Given the description of an element on the screen output the (x, y) to click on. 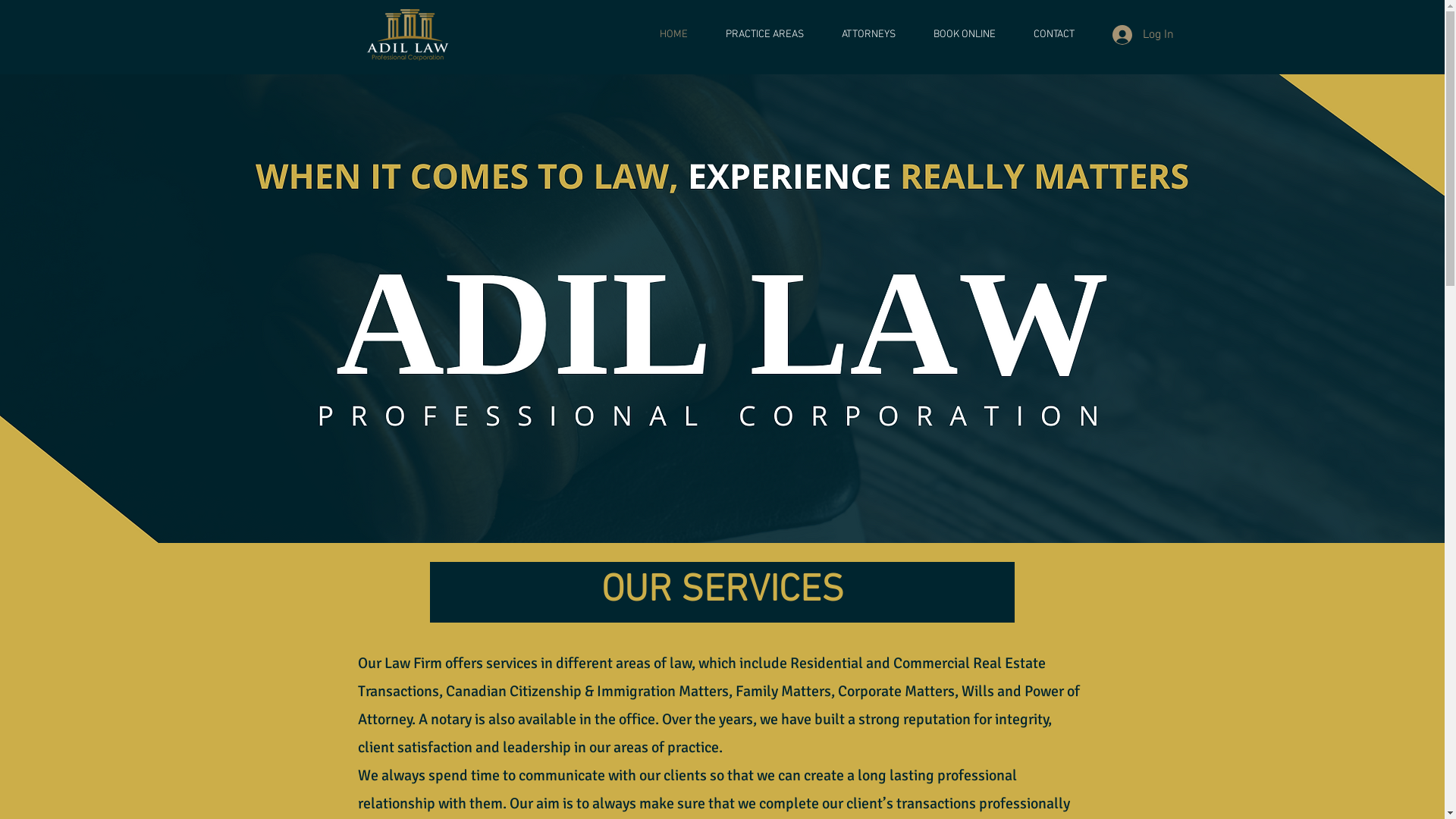
PRACTICE AREAS Element type: text (764, 34)
BOOK ONLINE Element type: text (964, 34)
ATTORNEYS Element type: text (867, 34)
HOME Element type: text (673, 34)
CONTACT Element type: text (1053, 34)
Log In Element type: text (1142, 34)
